Given the description of an element on the screen output the (x, y) to click on. 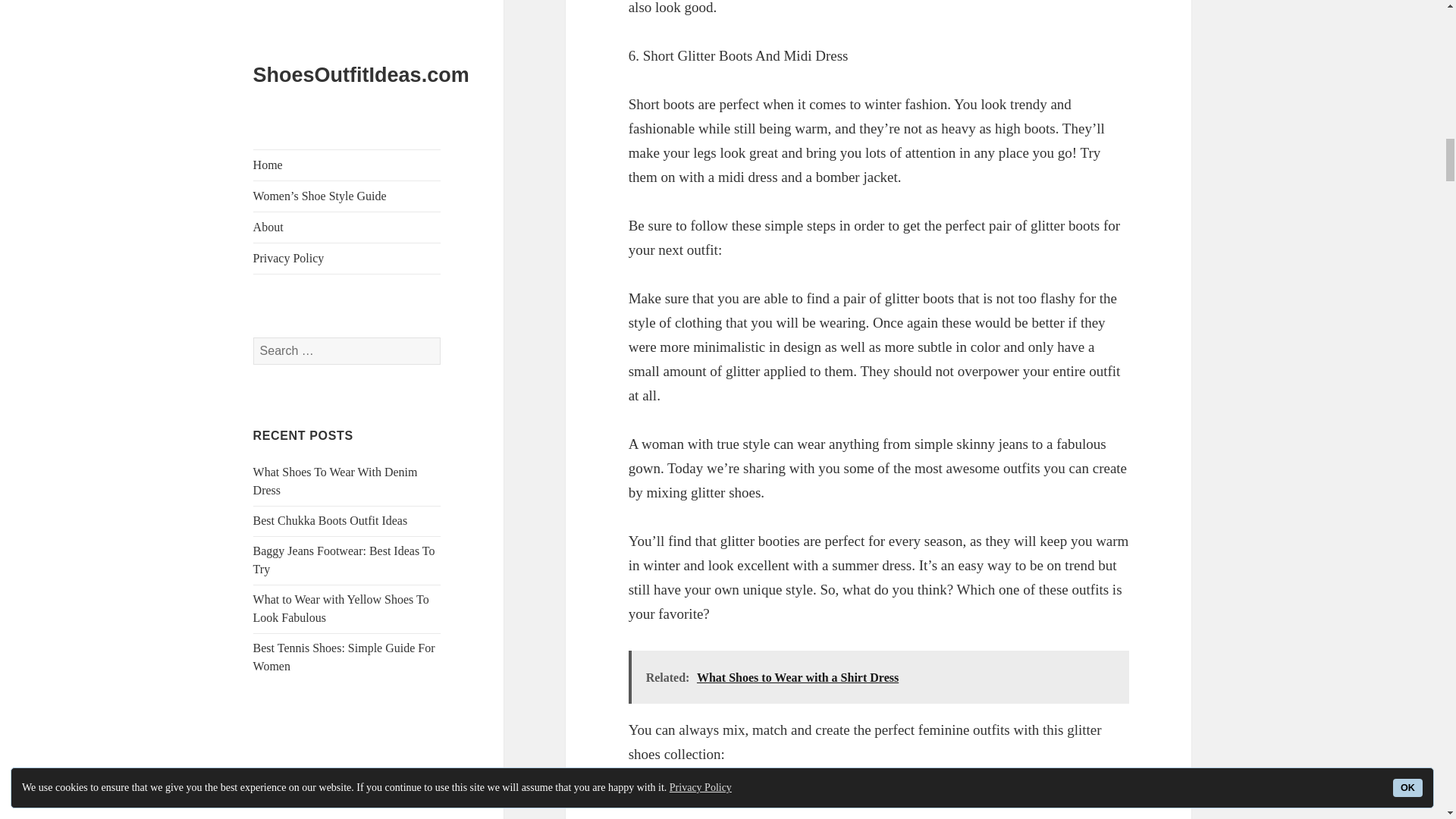
Related:  What Shoes to Wear with a Shirt Dress (878, 676)
